Given the description of an element on the screen output the (x, y) to click on. 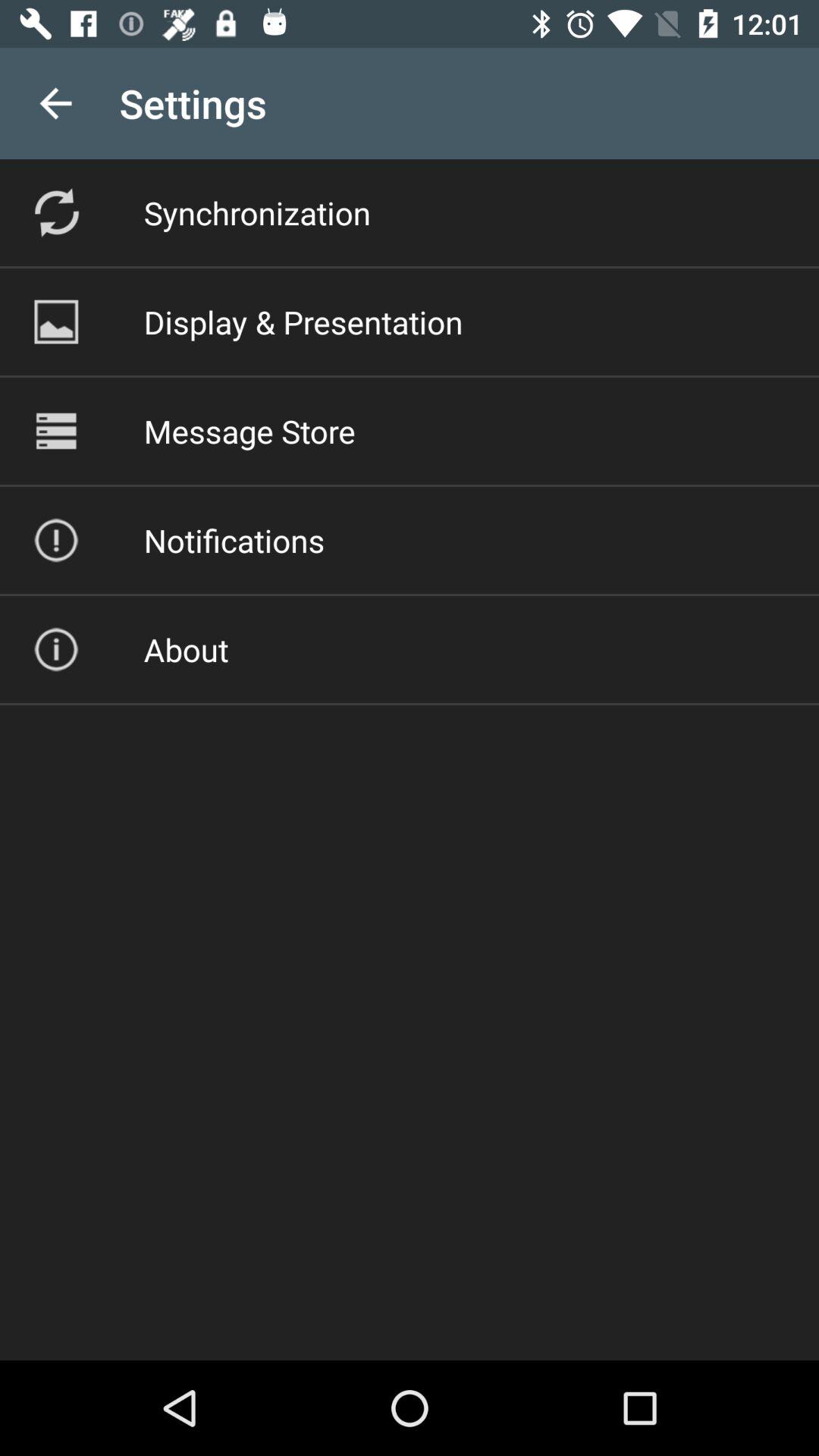
turn off item next to settings icon (55, 103)
